Given the description of an element on the screen output the (x, y) to click on. 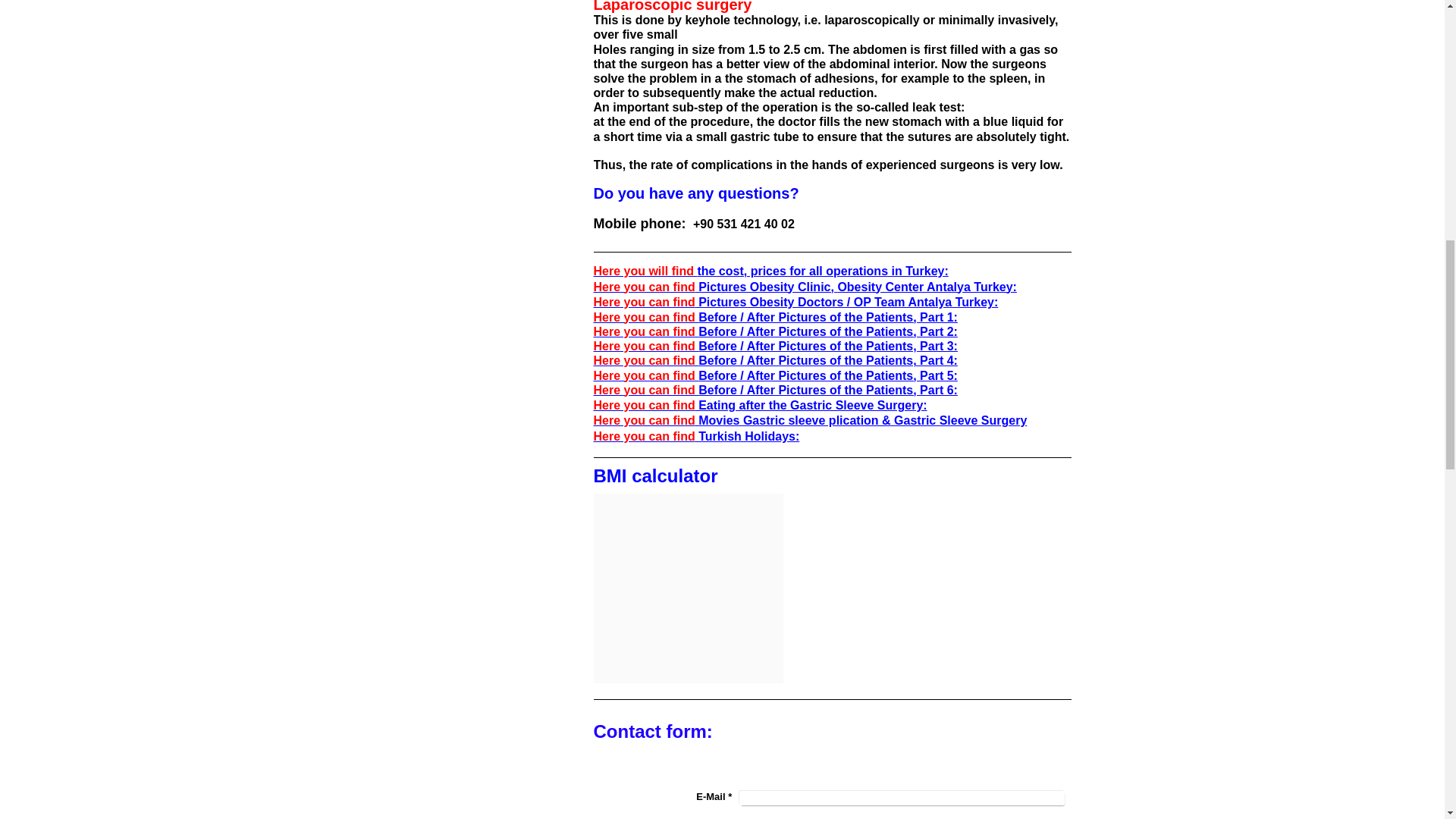
Here you can find Eating after the Gastric Sleeve Surgery: (759, 404)
Here you can find Turkish Holidays: (695, 436)
